Given the description of an element on the screen output the (x, y) to click on. 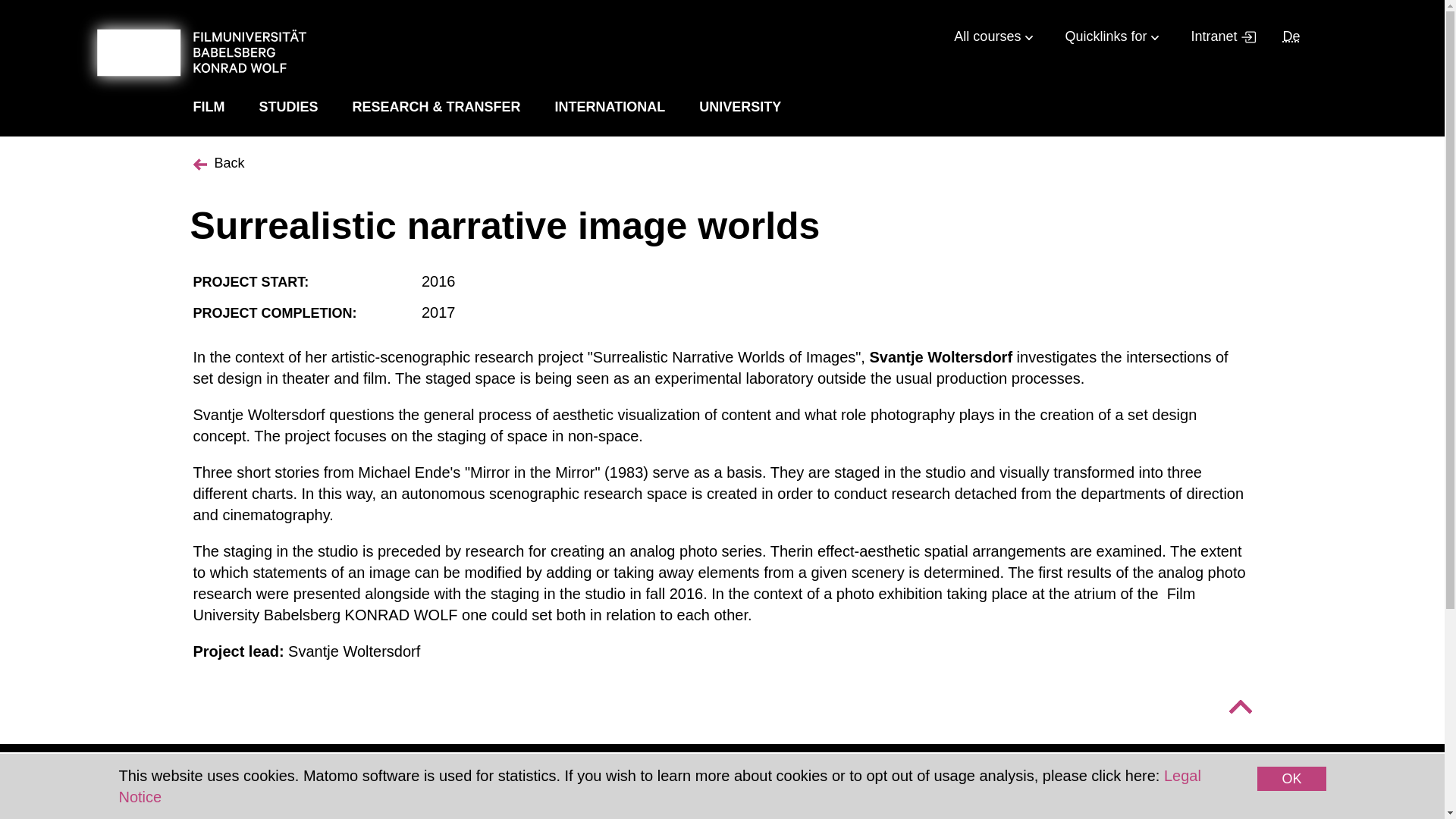
Legal Notice (658, 786)
Login (1158, 191)
Search (1339, 37)
Search (1339, 37)
Content (737, 13)
All courses (992, 33)
Intranet (1218, 33)
To top (1239, 706)
OK (1290, 778)
Quicklinks for (1110, 33)
deutsch (1291, 36)
